Given the description of an element on the screen output the (x, y) to click on. 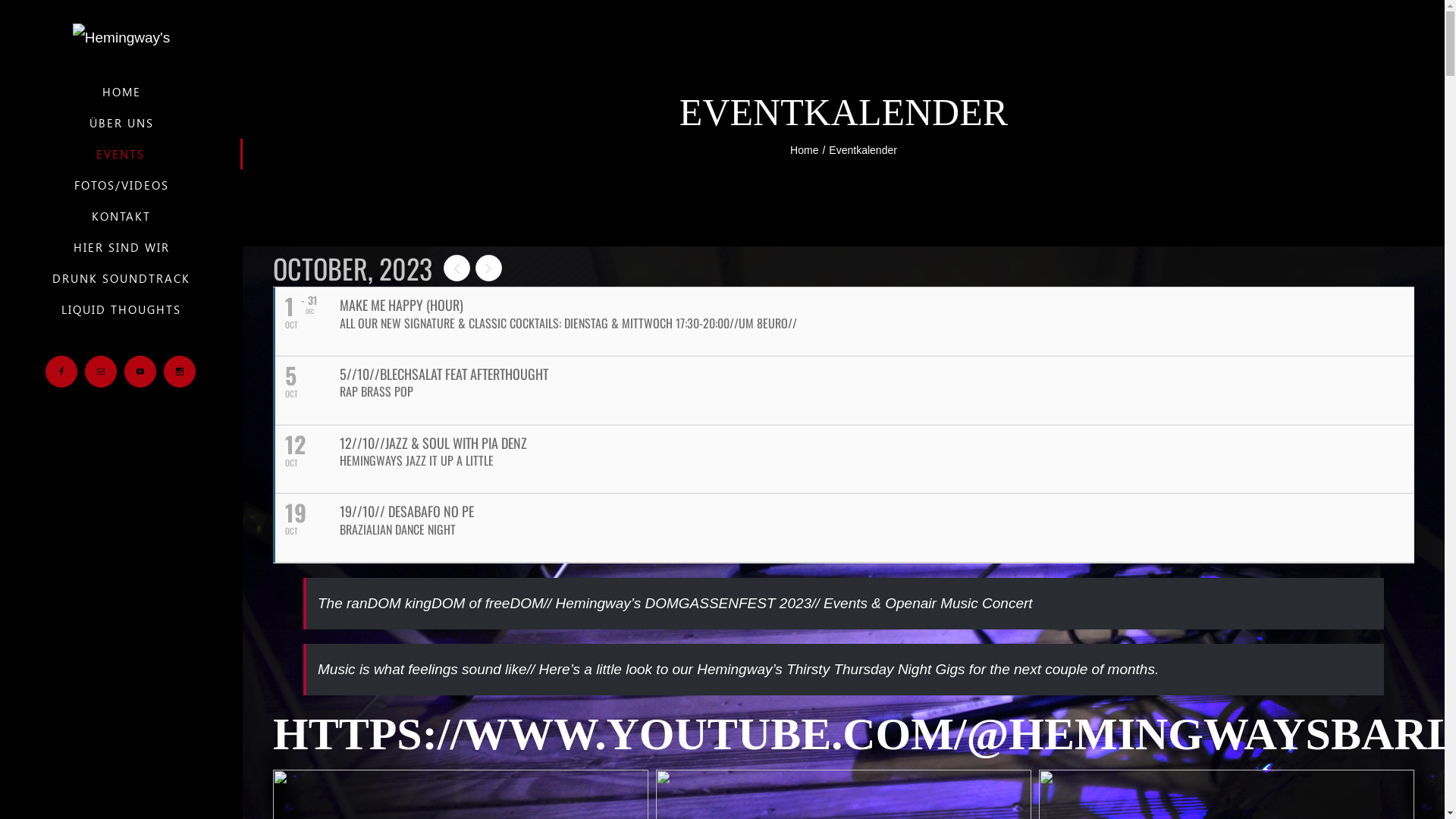
Facebook Element type: text (61, 371)
Email Element type: text (100, 371)
Home Element type: text (804, 150)
5
OCT
5//10//BLECHSALAT FEAT AFTERTHOUGHT
RAP BRASS POP Element type: text (843, 390)
KONTAKT Element type: text (121, 216)
HOME Element type: text (121, 91)
Instagram Element type: text (179, 371)
HIER SIND WIR Element type: text (121, 247)
19
OCT
19//10// DESABAFO NO PE
BRAZIALIAN DANCE NIGHT Element type: text (843, 527)
Youtube Element type: text (140, 371)
LIQUID THOUGHTS Element type: text (121, 309)
FOTOS/VIDEOS Element type: text (121, 184)
EVENTS Element type: text (121, 153)
DRUNK SOUNDTRACK Element type: text (121, 278)
